Given the description of an element on the screen output the (x, y) to click on. 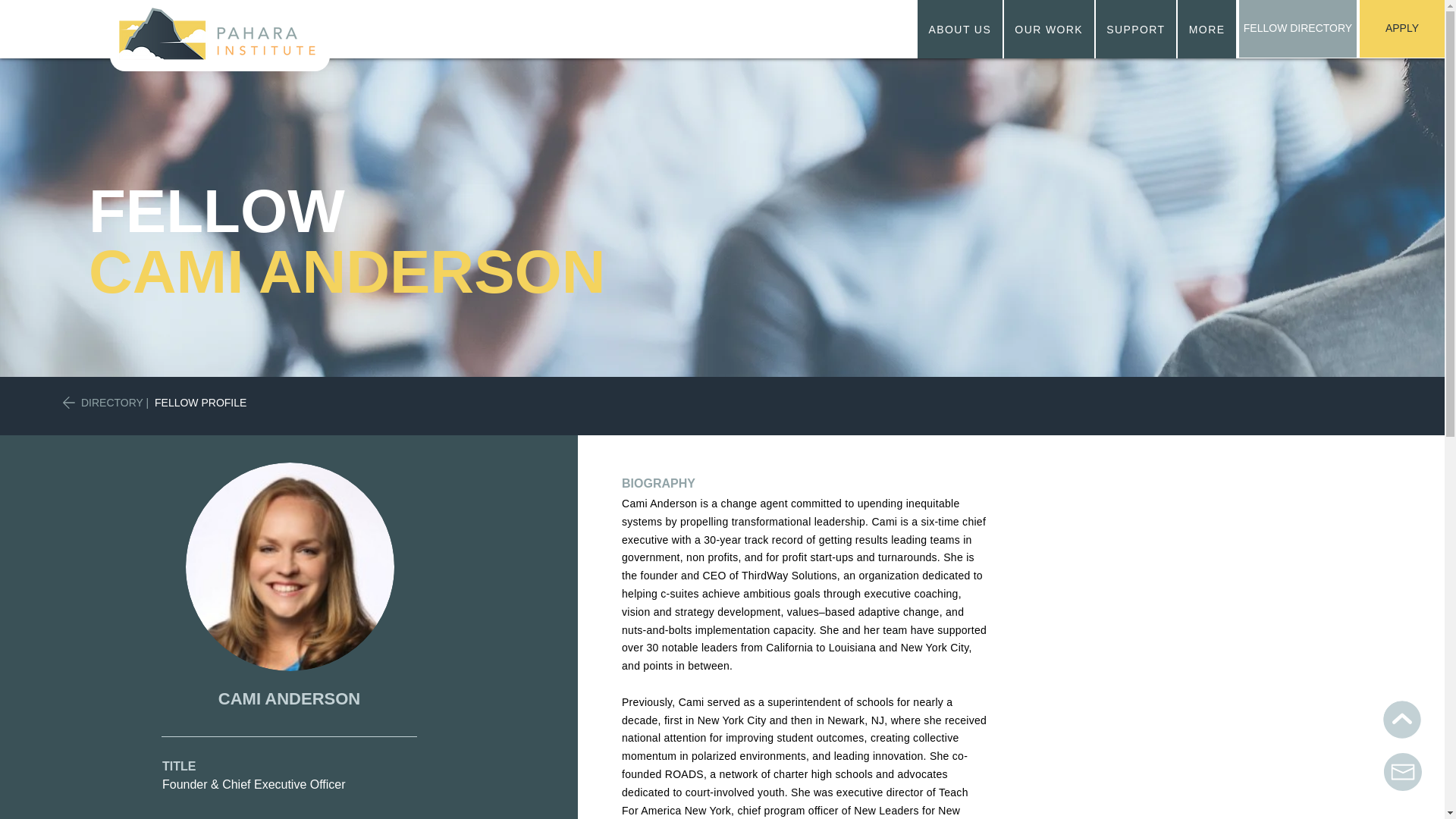
ABOUT US (1076, 29)
DIRECTORY (960, 29)
FELLOW DIRECTORY (111, 402)
NEW Pahara Institute Horizontal Logo.png (1297, 28)
